Given the description of an element on the screen output the (x, y) to click on. 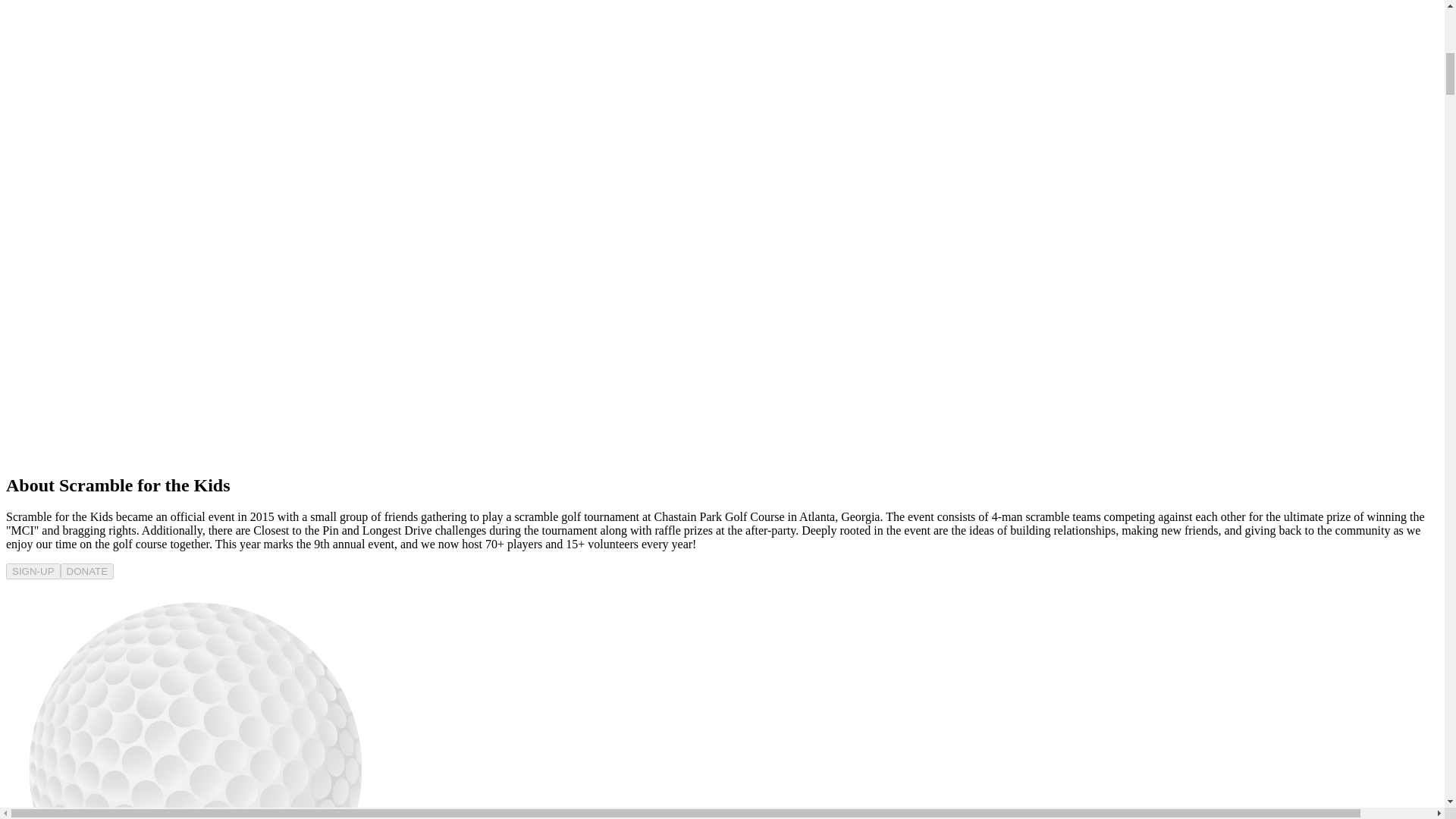
DONATE (88, 570)
DONATE (88, 571)
SIGN-UP (33, 571)
SIGN-UP (33, 570)
